Given the description of an element on the screen output the (x, y) to click on. 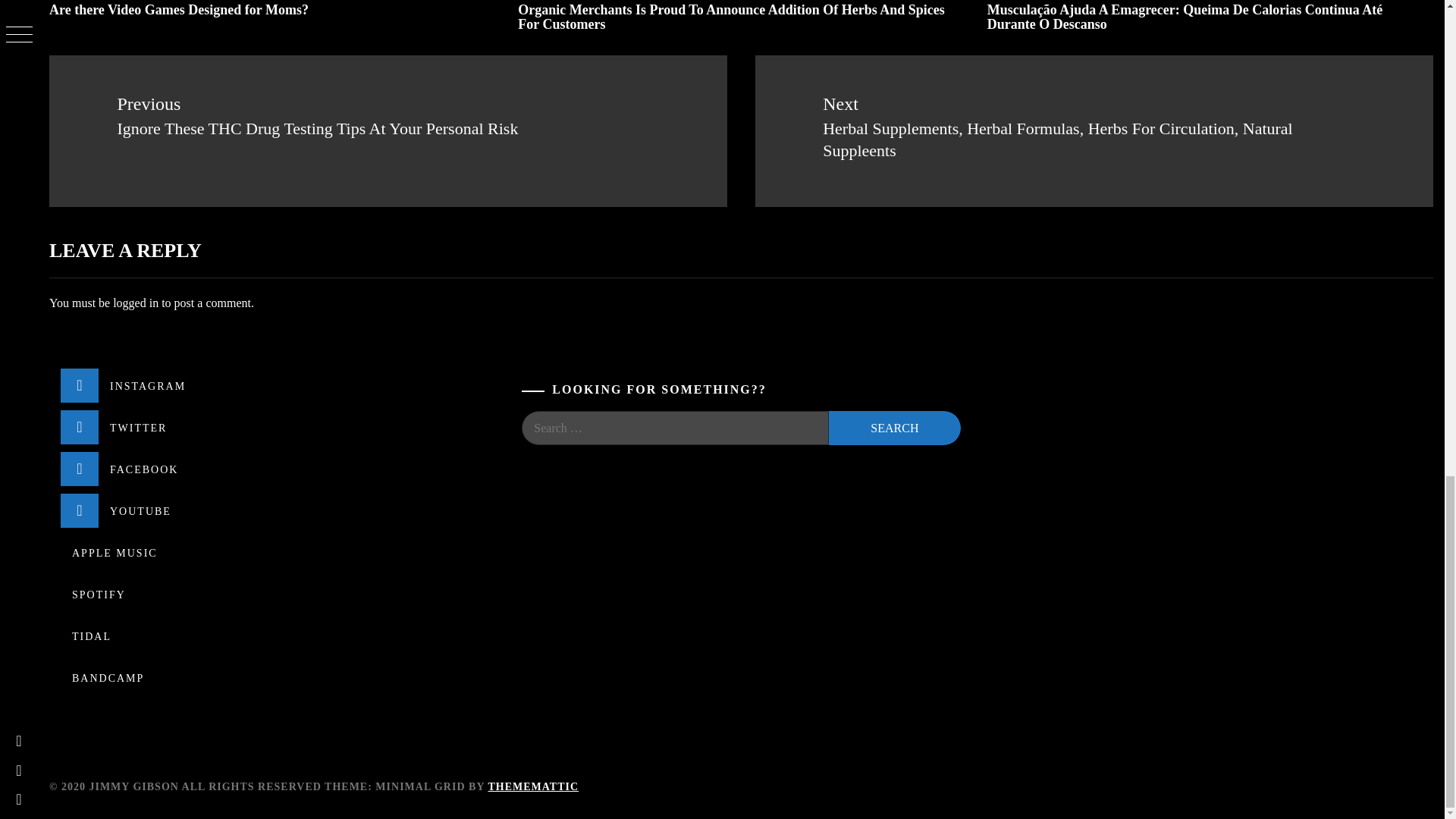
Are there Video Games Designed for Moms? (178, 9)
Search (893, 428)
Search (893, 428)
